Given the description of an element on the screen output the (x, y) to click on. 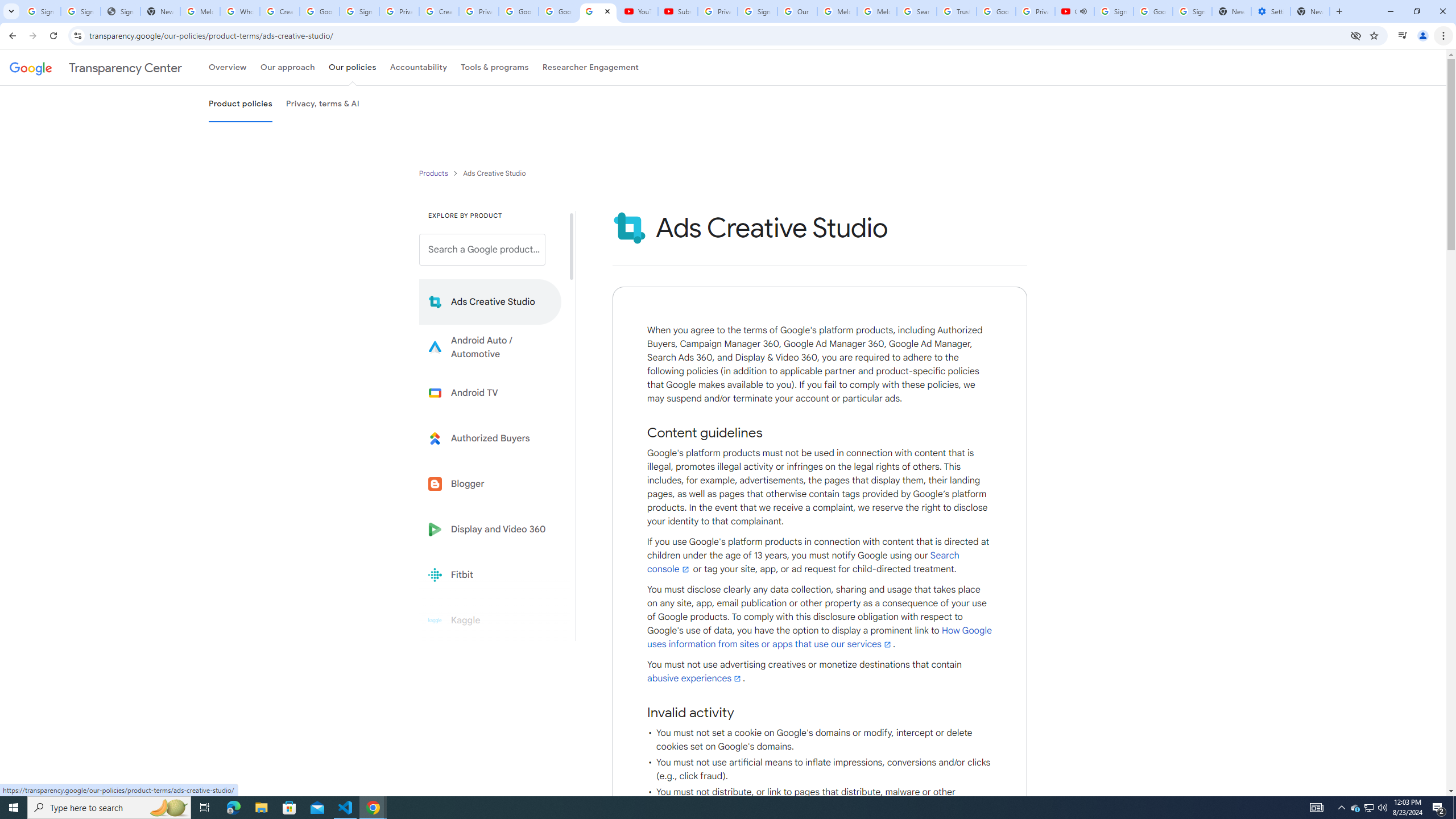
New Tab (1310, 11)
Product policies (434, 173)
Blogger (490, 483)
Learn more about Android Auto (490, 347)
Learn more about Android TV (490, 393)
Trusted Information and Content - Google Safety Center (956, 11)
Search our Doodle Library Collection - Google Doodles (916, 11)
